Given the description of an element on the screen output the (x, y) to click on. 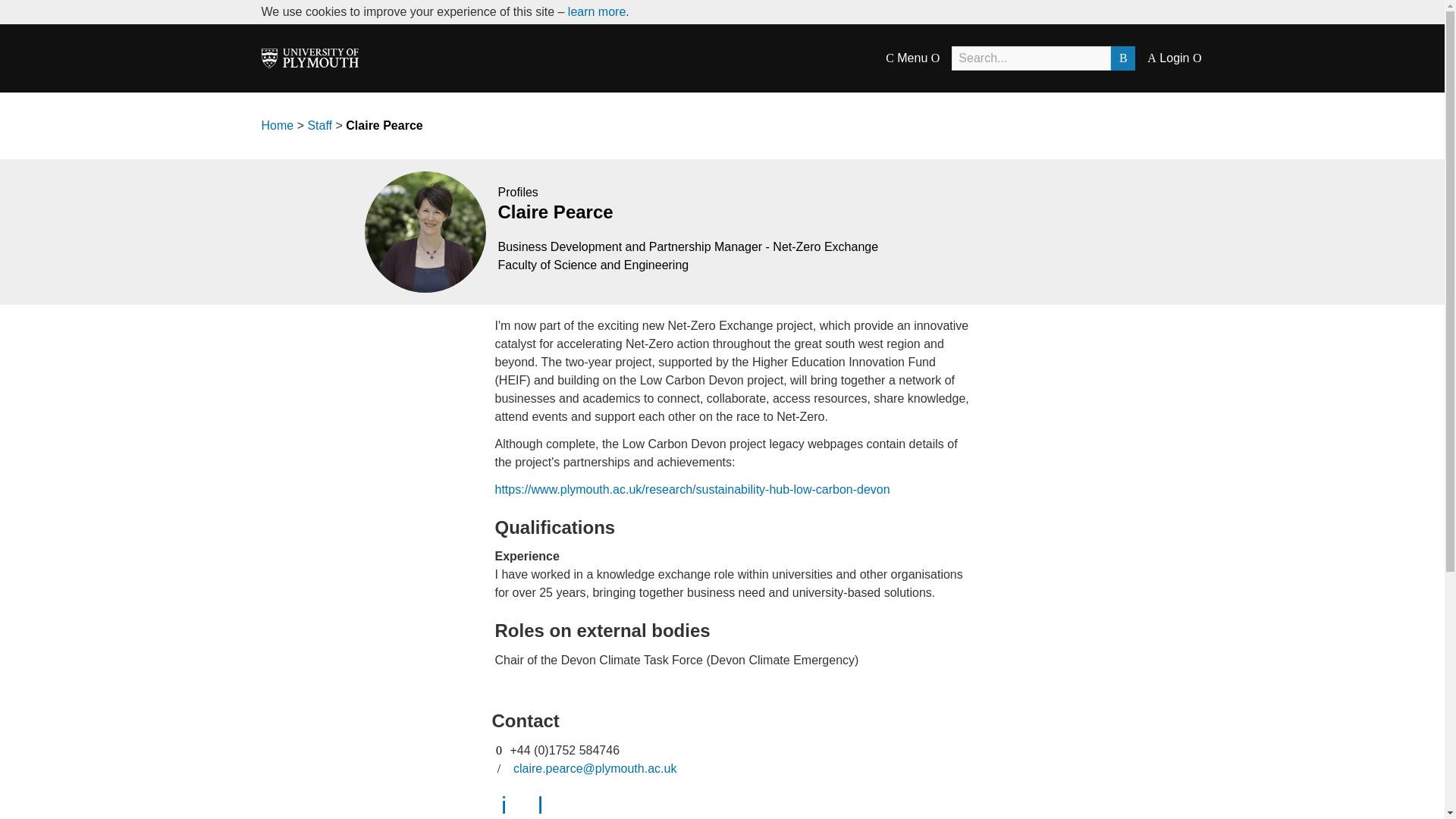
learn more (596, 11)
C Menu O (911, 58)
B (1122, 57)
A Login O (1174, 58)
